Given the description of an element on the screen output the (x, y) to click on. 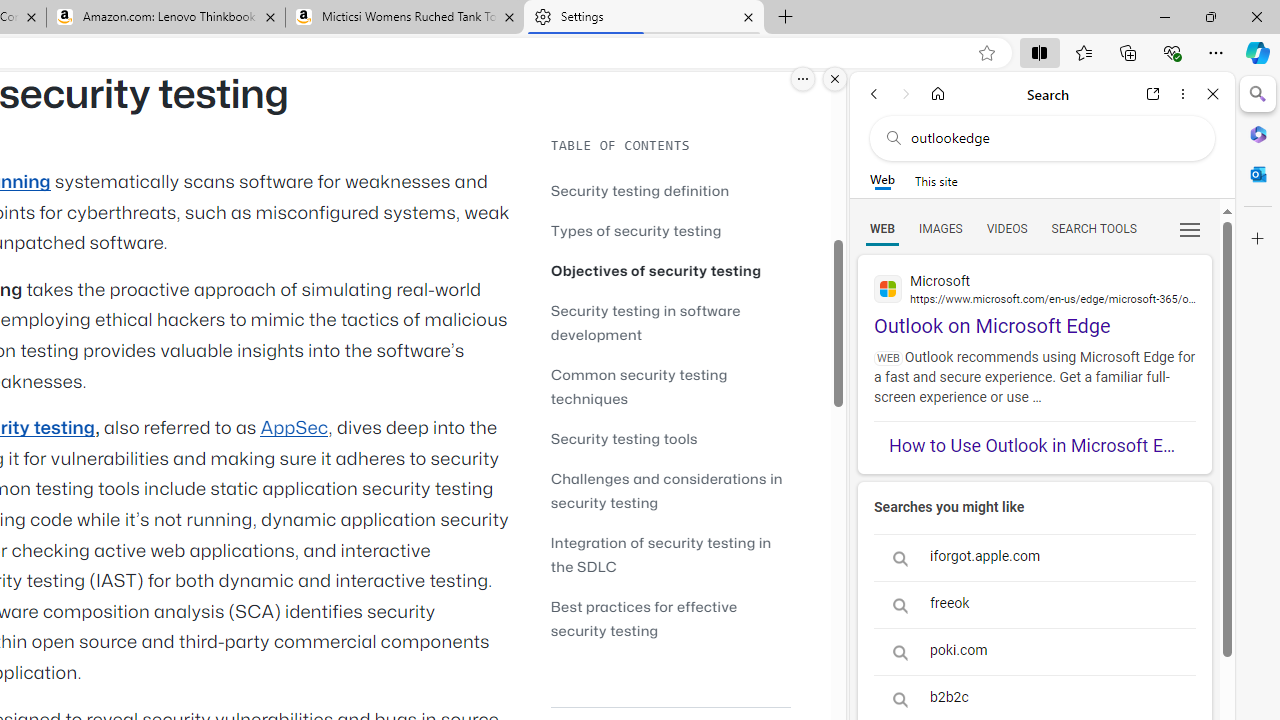
Types of security testing (635, 230)
Security testing tools (670, 438)
freeok (1034, 604)
freeok (1034, 604)
Security testing tools (623, 438)
